Given the description of an element on the screen output the (x, y) to click on. 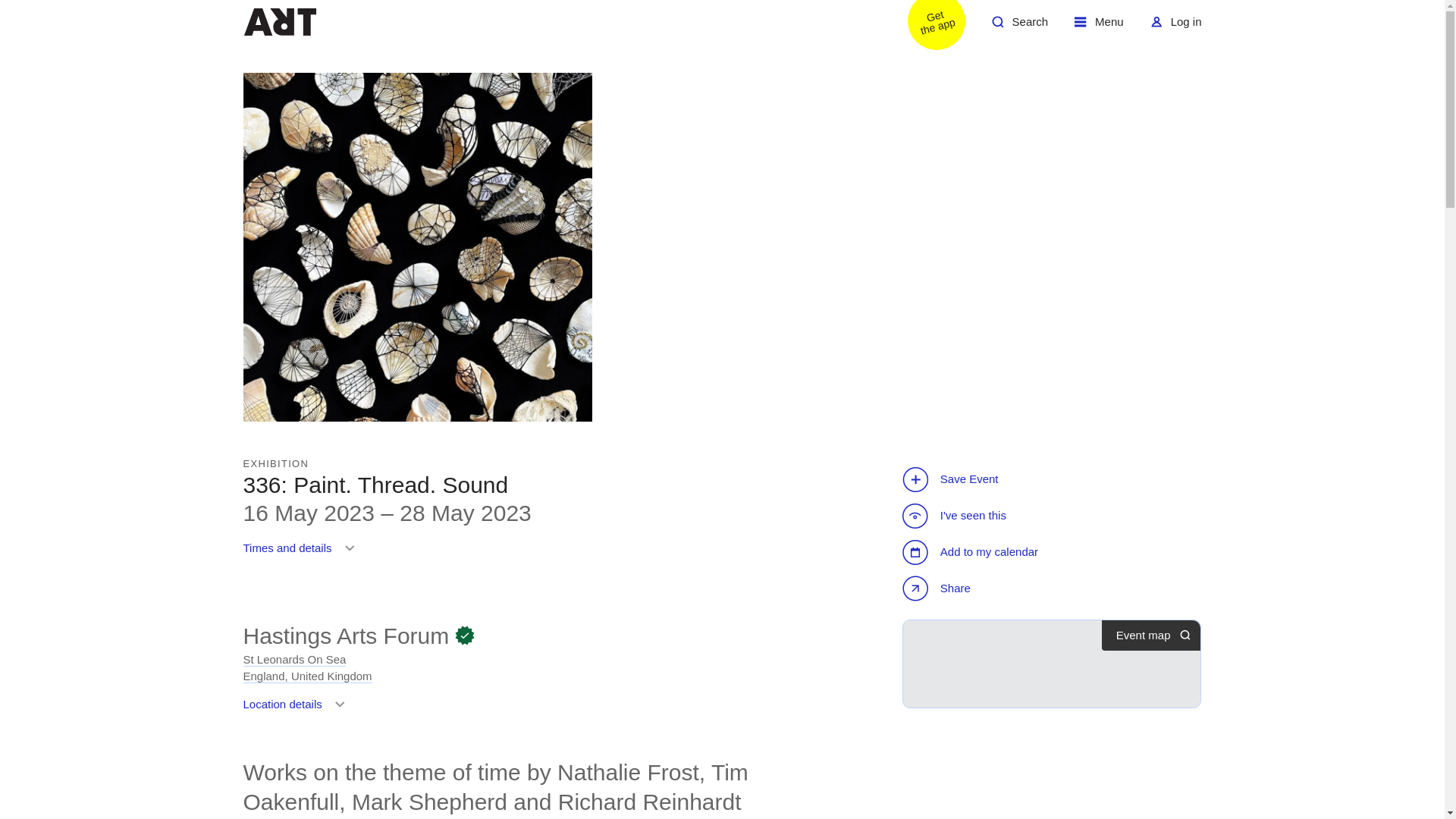
Welcome to ArtRabbit (279, 22)
Hastings Arts Forum (926, 27)
Add to my calendar (345, 635)
Share (972, 551)
